Given the description of an element on the screen output the (x, y) to click on. 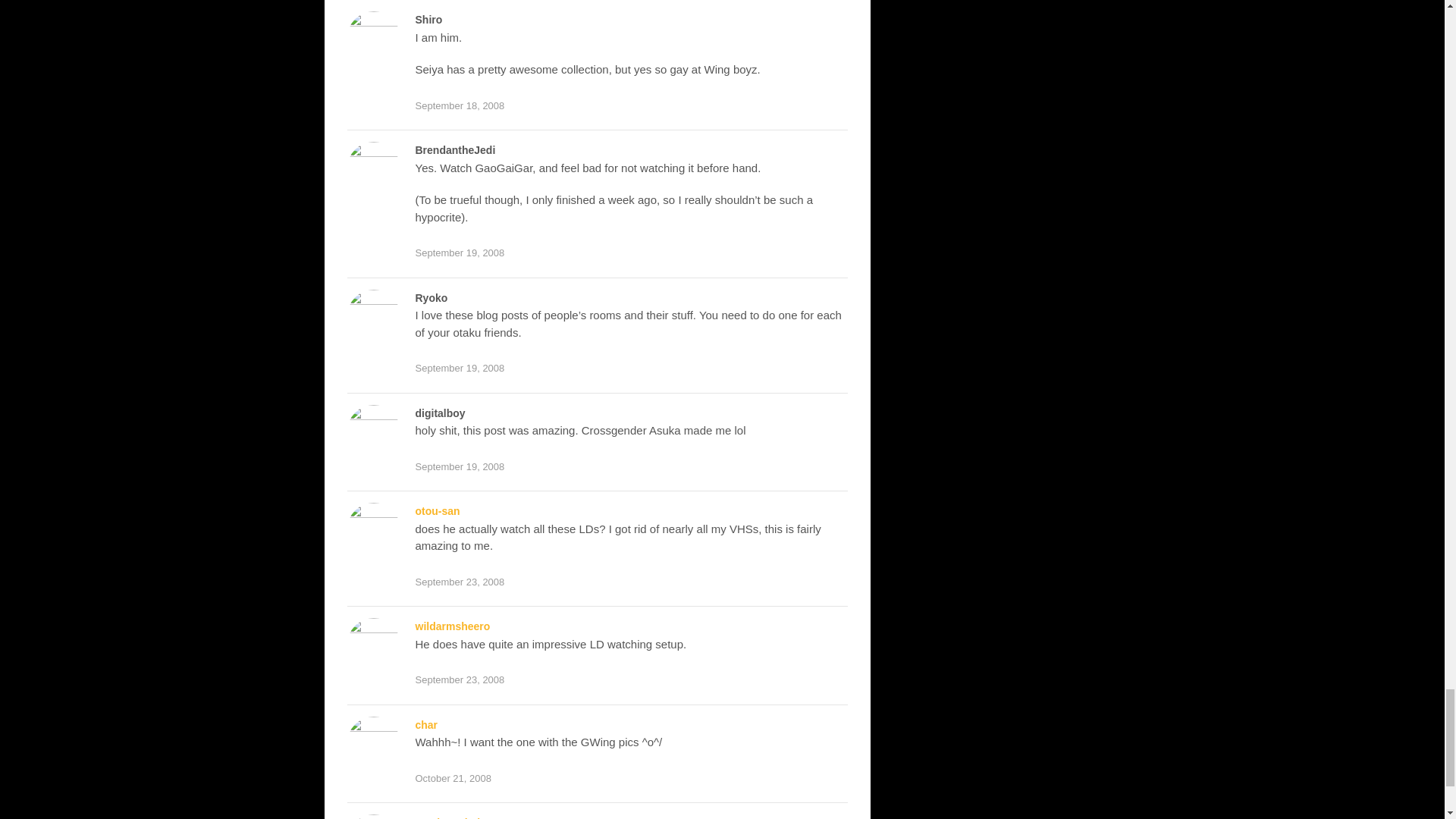
otou-san (437, 510)
wildarmsheero (452, 625)
char (426, 725)
SDShamshel (447, 817)
